Given the description of an element on the screen output the (x, y) to click on. 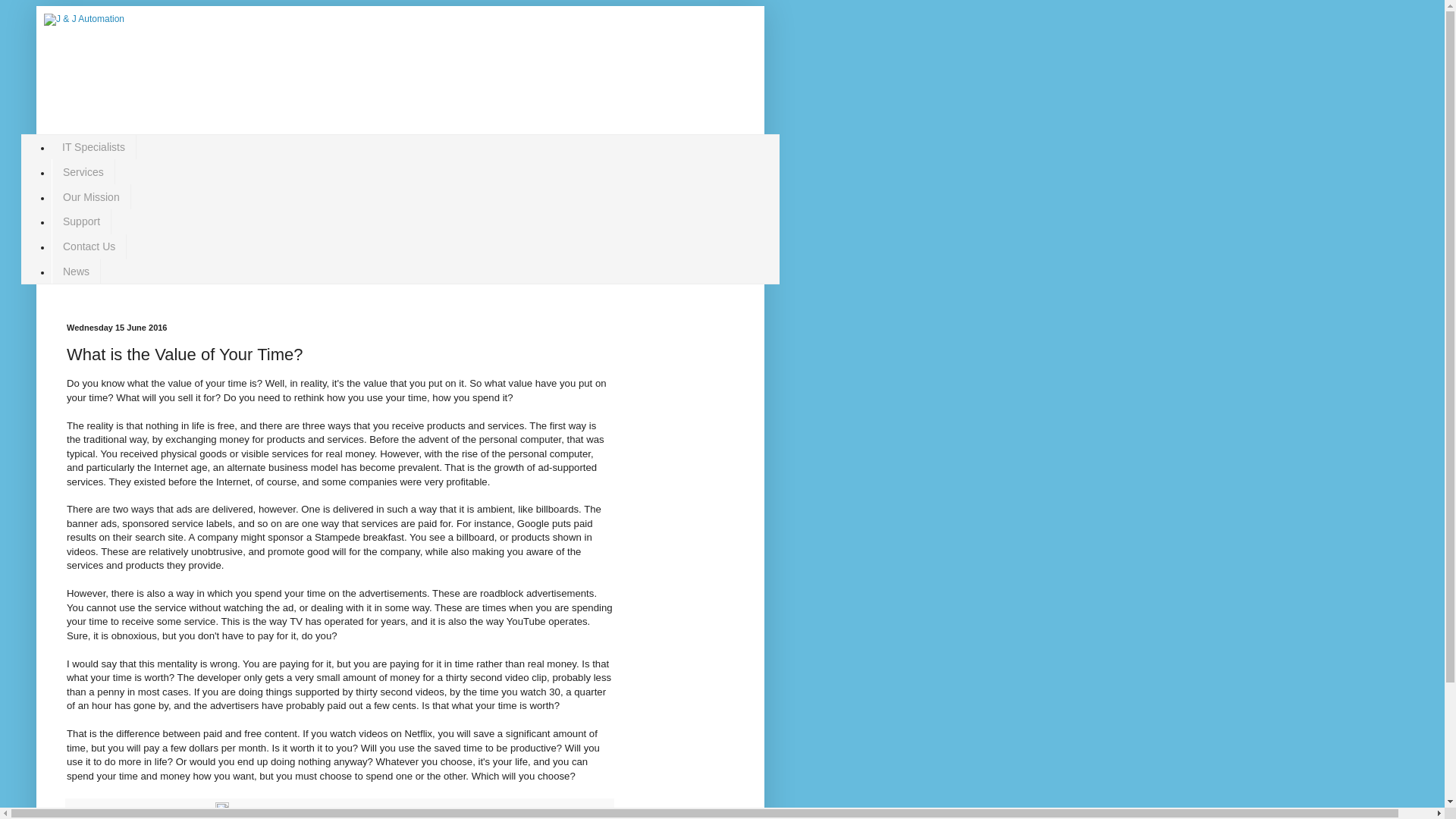
Jonathan Hurdman (147, 812)
News (75, 271)
Services (82, 171)
Edit Post (221, 812)
11:00 (202, 812)
permanent link (202, 812)
Contact Us (88, 246)
author profile (147, 812)
Support (81, 221)
IT Specialists (93, 147)
Our Mission (90, 196)
